Given the description of an element on the screen output the (x, y) to click on. 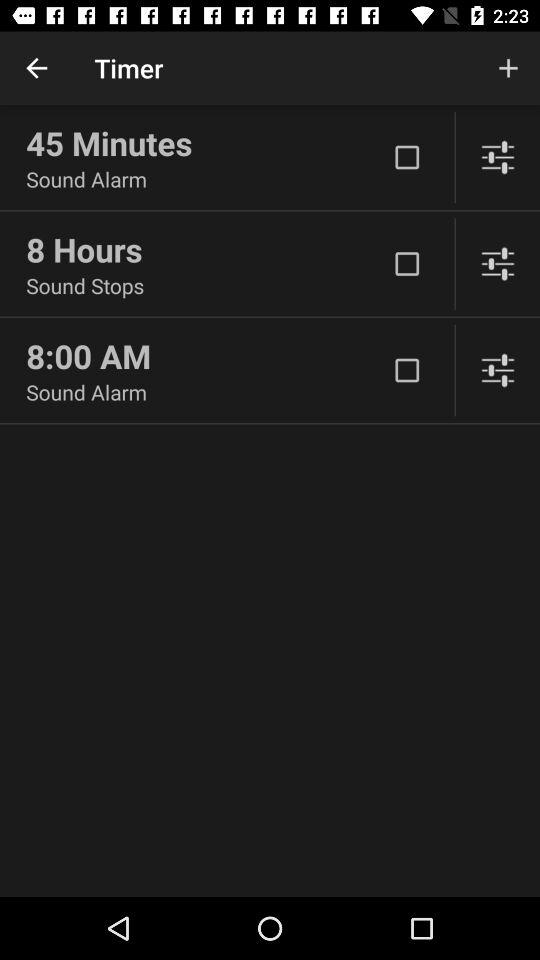
flip to sound stops (206, 285)
